Given the description of an element on the screen output the (x, y) to click on. 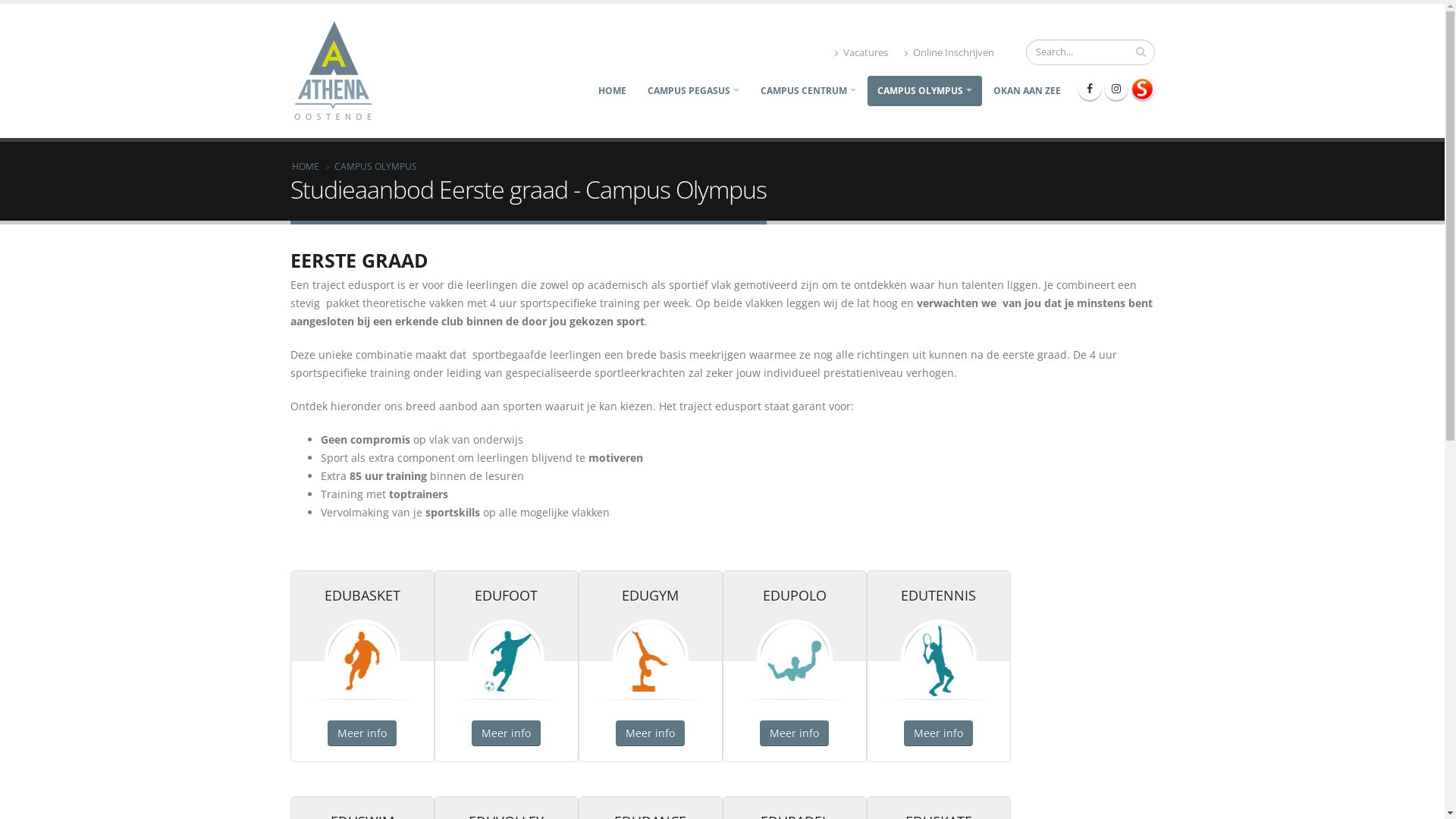
Online Inschrijven Element type: text (948, 52)
HOME Element type: text (612, 90)
Meer info Element type: text (505, 733)
Enter the terms you wish to search for. Element type: hover (1089, 52)
Instagram Element type: hover (1115, 88)
Facebook Element type: hover (1089, 88)
Smartschool Athena Element type: hover (1142, 88)
CAMPUS PEGASUS Element type: text (692, 90)
Meer info Element type: text (793, 733)
Meer info Element type: text (937, 733)
Home Element type: hover (339, 69)
Meer info Element type: text (361, 733)
OKAN AAN ZEE Element type: text (1026, 90)
HOME Element type: text (304, 166)
Vacatures Element type: text (860, 52)
CAMPUS OLYMPUS Element type: text (374, 166)
CAMPUS OLYMPUS Element type: text (924, 90)
CAMPUS CENTRUM Element type: text (808, 90)
Meer info Element type: text (649, 733)
